Given the description of an element on the screen output the (x, y) to click on. 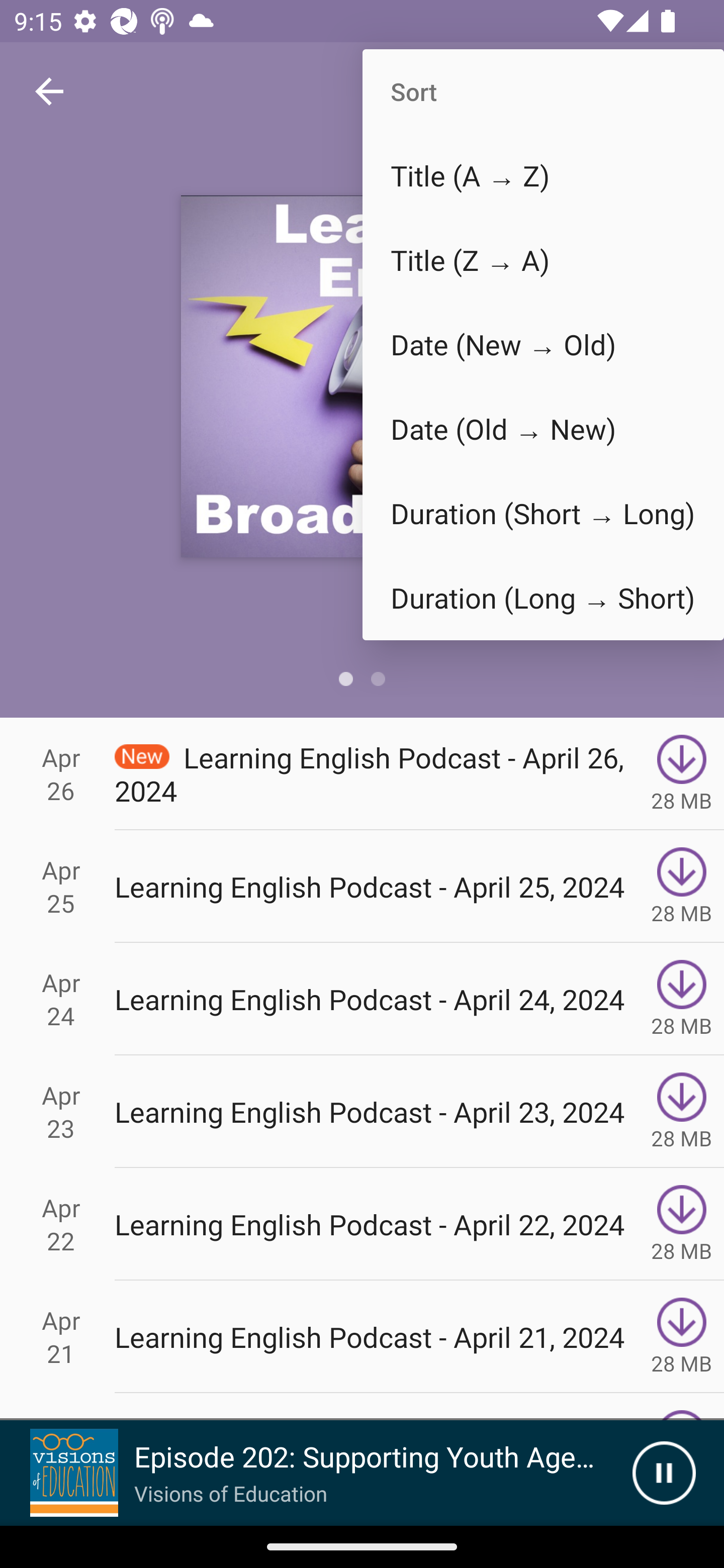
Title (A → Z) (543, 175)
Title (Z → A) (543, 259)
Date (New → Old) (543, 344)
Date (Old → New) (543, 429)
Duration (Short → Long) (543, 513)
Duration (Long → Short) (543, 597)
